Given the description of an element on the screen output the (x, y) to click on. 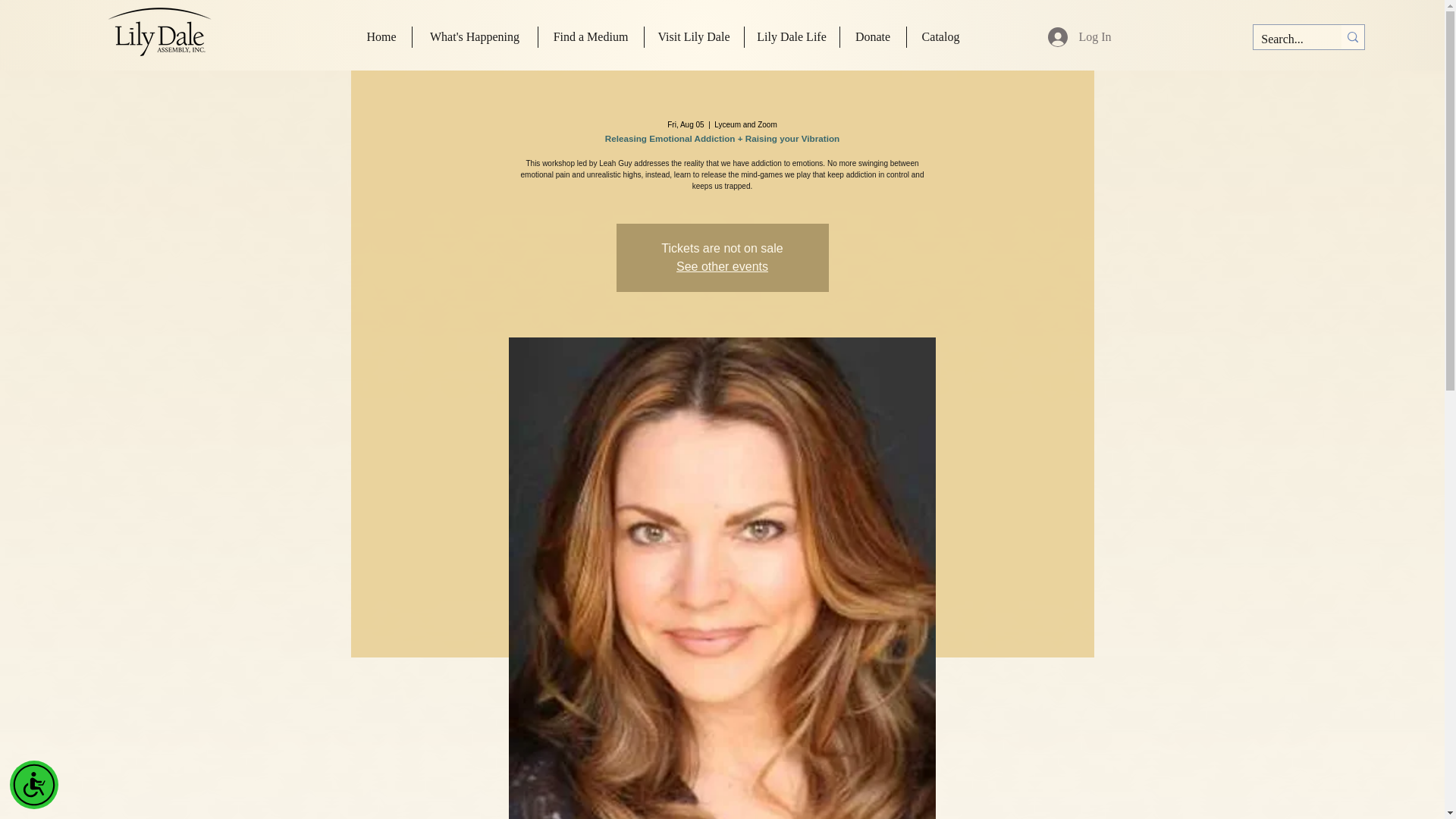
Visit Lily Dale (694, 36)
Lily Dale Life (792, 36)
Catalog (941, 36)
See other events (722, 266)
What's Happening (474, 36)
Find a Medium (590, 36)
Donate (872, 36)
Accessibility Menu (34, 784)
Log In (1078, 36)
Home (382, 36)
